Given the description of an element on the screen output the (x, y) to click on. 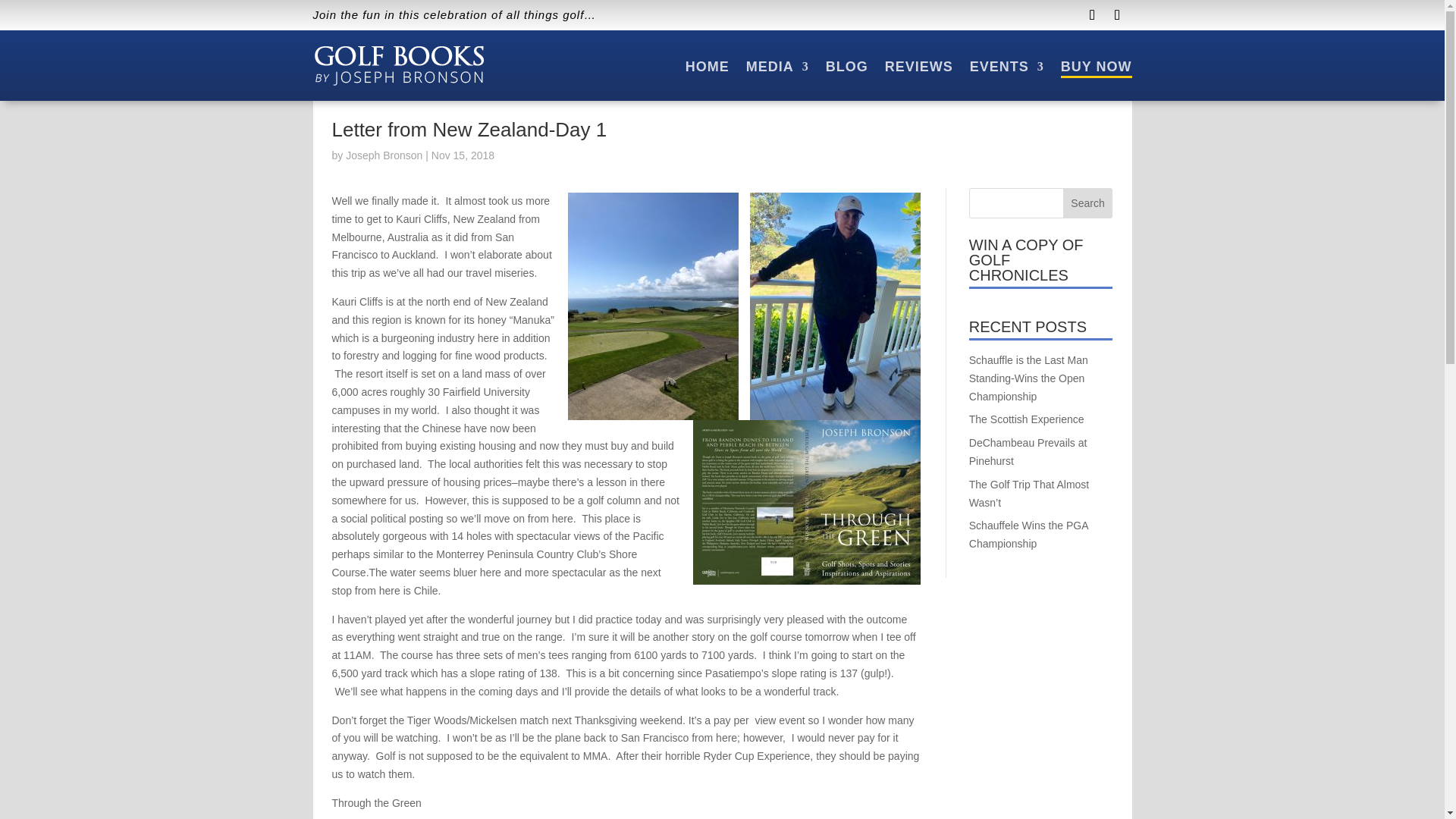
BUY NOW (1096, 57)
REVIEWS (919, 66)
Follow on Instagram (1116, 14)
MEDIA (777, 66)
DeChambeau Prevails at Pinehurst (1028, 451)
EVENTS (1006, 66)
Schauffele Wins the PGA Championship (1028, 534)
The Scottish Experience (1026, 419)
Posts by Joseph Bronson (384, 155)
Follow on Facebook (1092, 14)
